Given the description of an element on the screen output the (x, y) to click on. 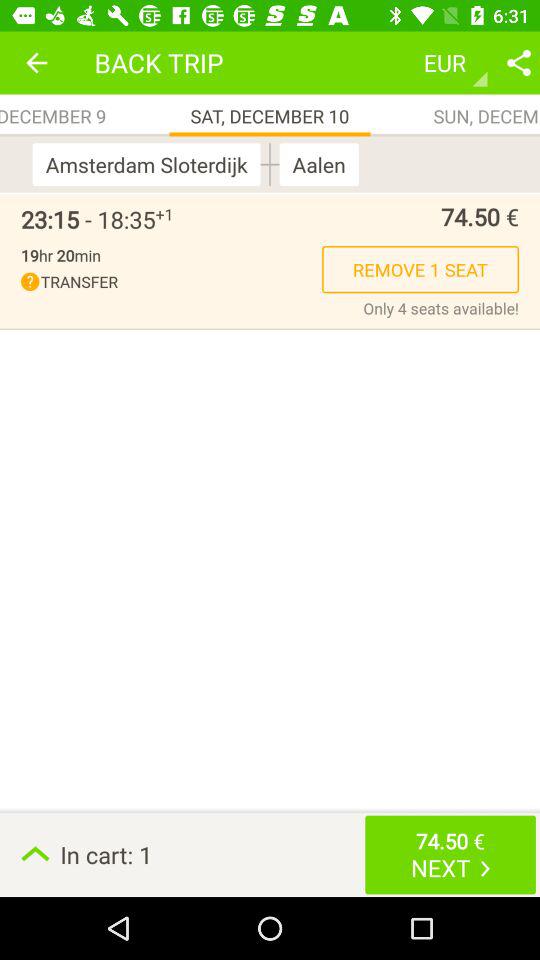
select the 23 15 18 item (88, 219)
